Given the description of an element on the screen output the (x, y) to click on. 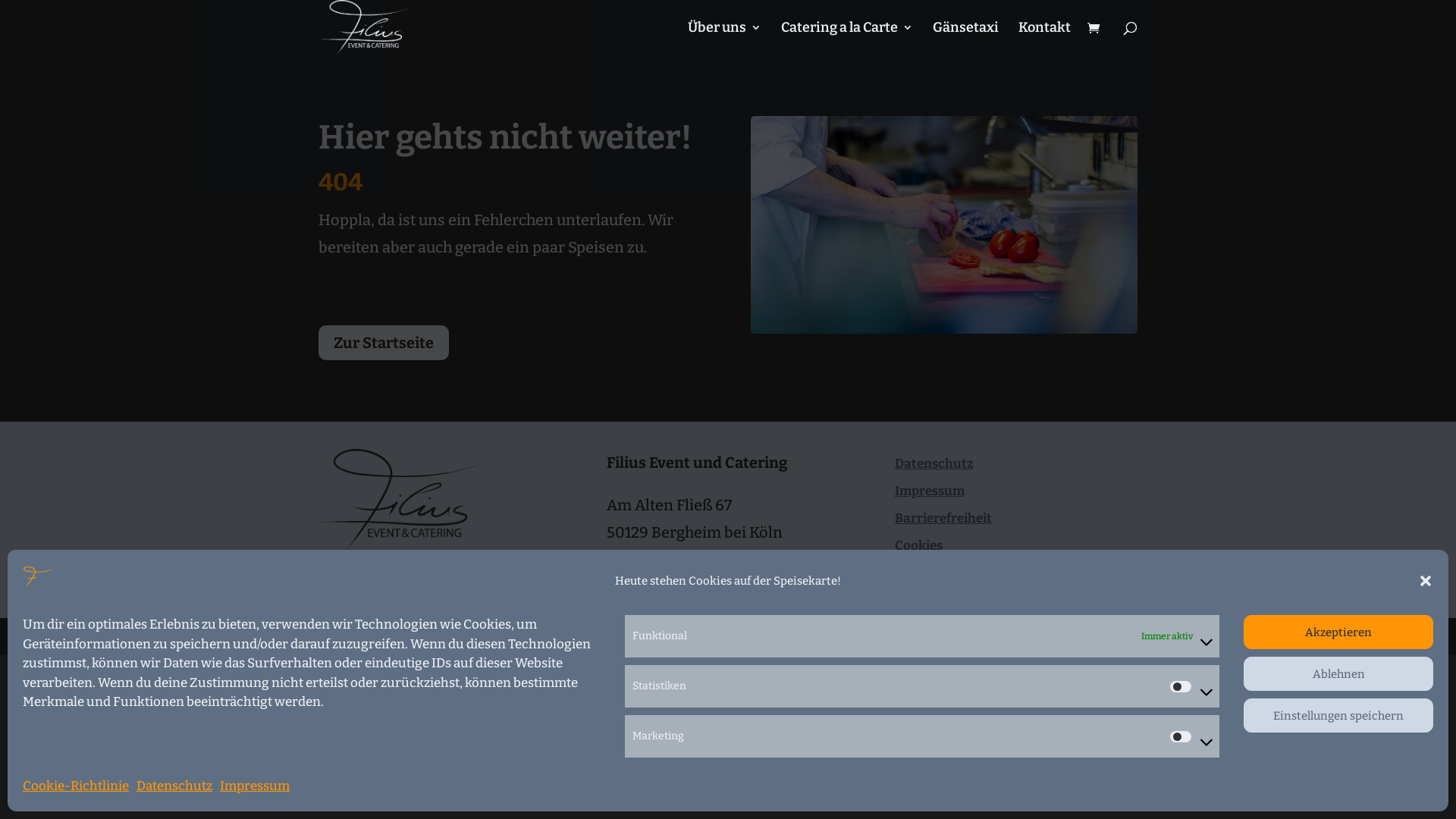
Cookies Element type: text (918, 546)
Filius Event und Catering Logo Element type: hover (398, 498)
Zur Startseite Element type: text (383, 342)
Datenschutz Element type: text (933, 464)
Cookie-Richtlinie Element type: text (75, 786)
Catering a la Carte Element type: text (847, 37)
Impressum Element type: text (929, 491)
Barrierefreiheit Element type: text (942, 519)
Impressum Element type: text (254, 786)
Einstellungen speichern Element type: text (1338, 715)
Kontakt Element type: text (640, 584)
Facebook Element type: text (676, 633)
Datenschutz Element type: text (174, 786)
Akzeptieren Element type: text (1338, 632)
Skip to content Element type: text (0, 0)
Kontakt Element type: text (1044, 37)
Ablehnen Element type: text (1338, 673)
Instagram Element type: text (706, 633)
